Given the description of an element on the screen output the (x, y) to click on. 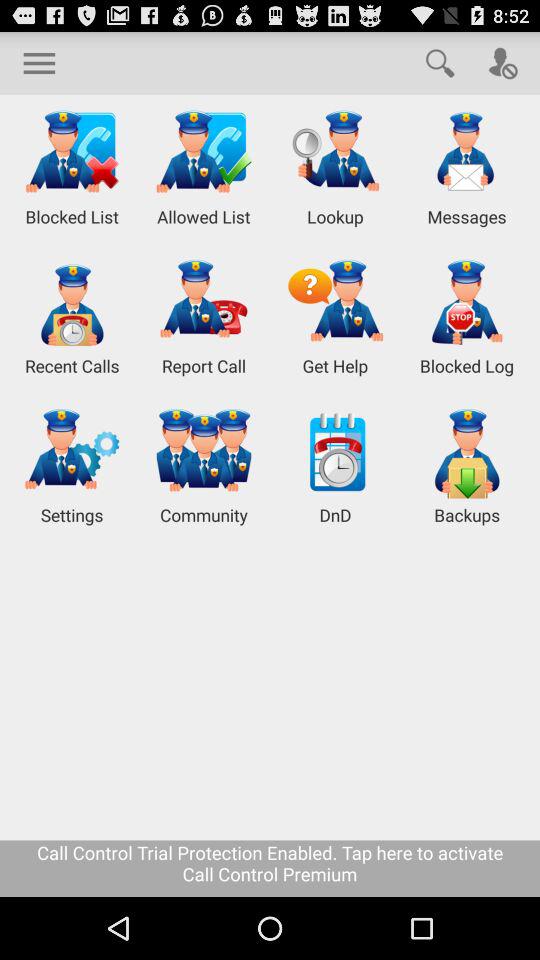
press call control trial (270, 868)
